Given the description of an element on the screen output the (x, y) to click on. 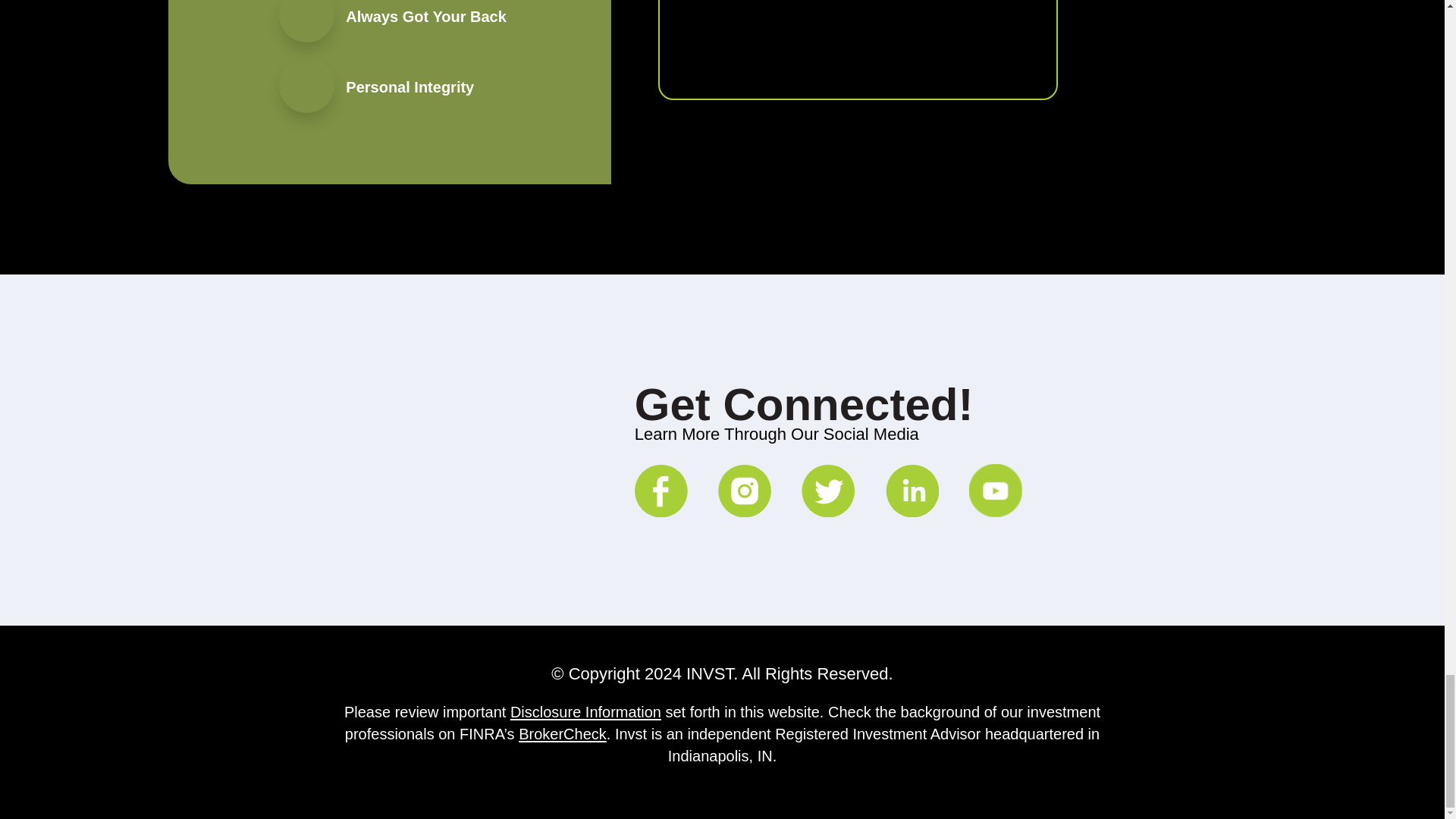
BrokerCheck (562, 733)
Disclosure Information (586, 711)
